Given the description of an element on the screen output the (x, y) to click on. 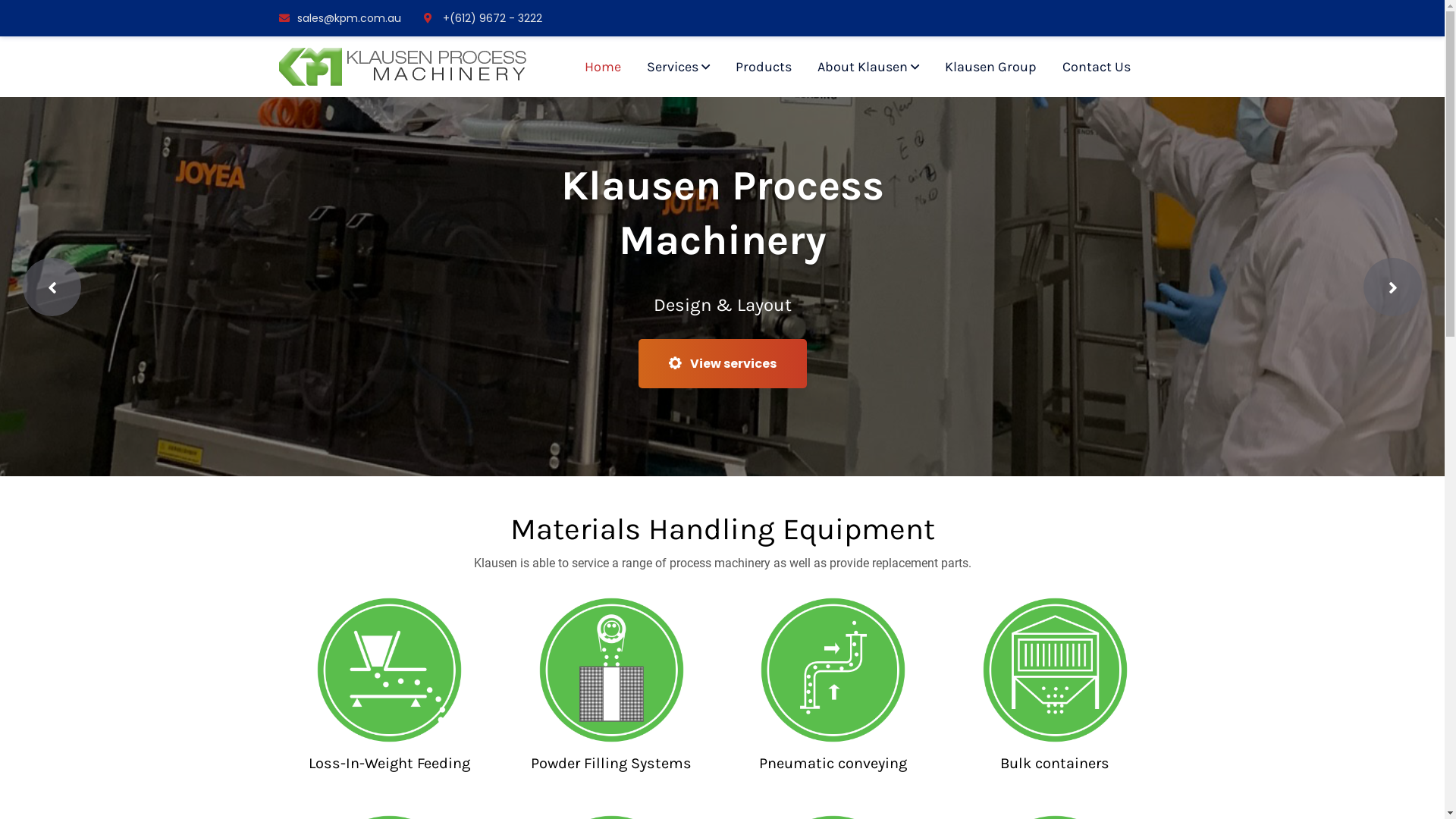
About Klausen Element type: text (868, 66)
Services Element type: text (677, 66)
+(612) 9672 - 3222 Element type: text (482, 17)
Products Element type: text (763, 66)
Klausen Process Machinery Element type: hover (402, 65)
Pneumatic conveying Element type: text (832, 762)
Powder Filling Systems Element type: text (610, 762)
Bulk containers Element type: text (1054, 762)
Klausen Group Element type: text (990, 66)
View services Element type: text (722, 362)
Contact Us Element type: text (1095, 66)
Home Element type: text (601, 66)
Loss-In-Weight Feeding Element type: text (389, 762)
sales@kpm.com.au Element type: text (340, 17)
